Given the description of an element on the screen output the (x, y) to click on. 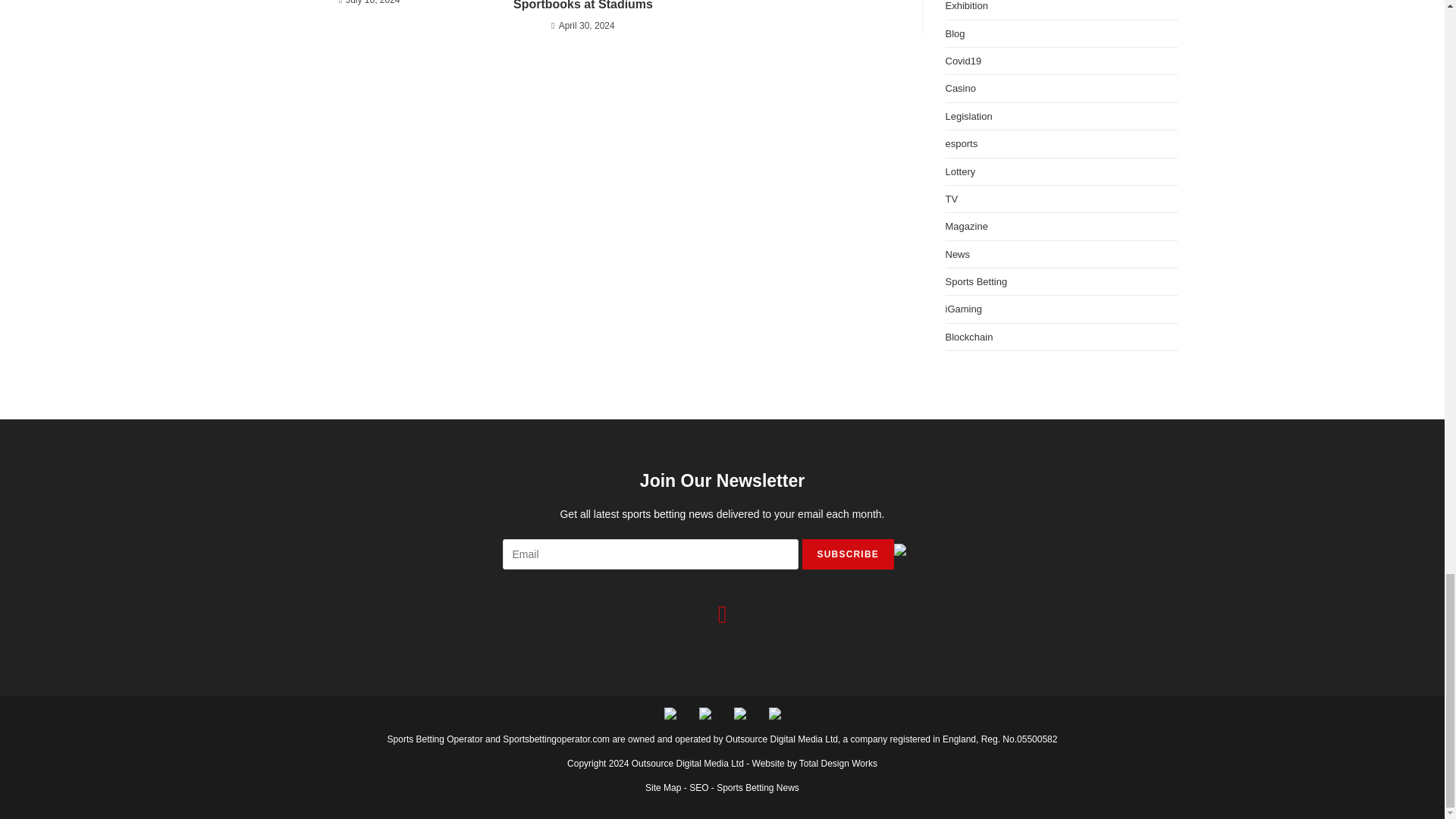
Subscribe (847, 553)
